Given the description of an element on the screen output the (x, y) to click on. 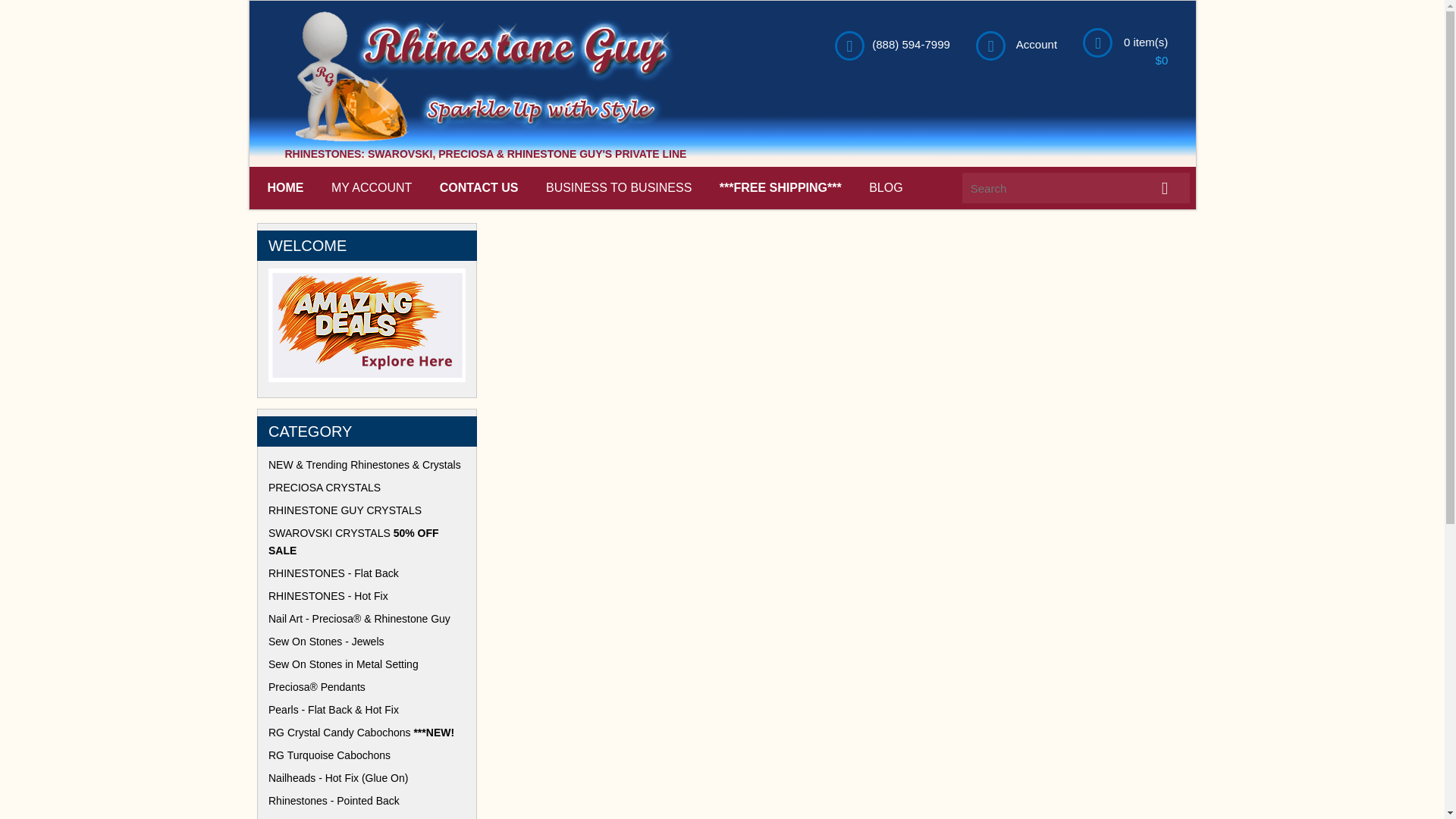
Rhinestone Guy (485, 137)
RG Turquoise Cabochons (366, 755)
HOME (284, 187)
PRECIOSA CRYSTALS (366, 487)
home (485, 137)
RHINESTONE GUY CRYSTALS (366, 510)
Sew On Stones in Metal Setting (366, 664)
BLOG (885, 187)
Rhinestones - Pointed Back (366, 800)
RHINESTONES - Flat Back (366, 573)
CONTACT US (479, 187)
Crystal Trim - Chain, Banding, Mesh (366, 816)
Sew On Stones - Jewels (366, 641)
BUSINESS TO BUSINESS (618, 187)
RHINESTONES - Hot Fix (366, 596)
